Given the description of an element on the screen output the (x, y) to click on. 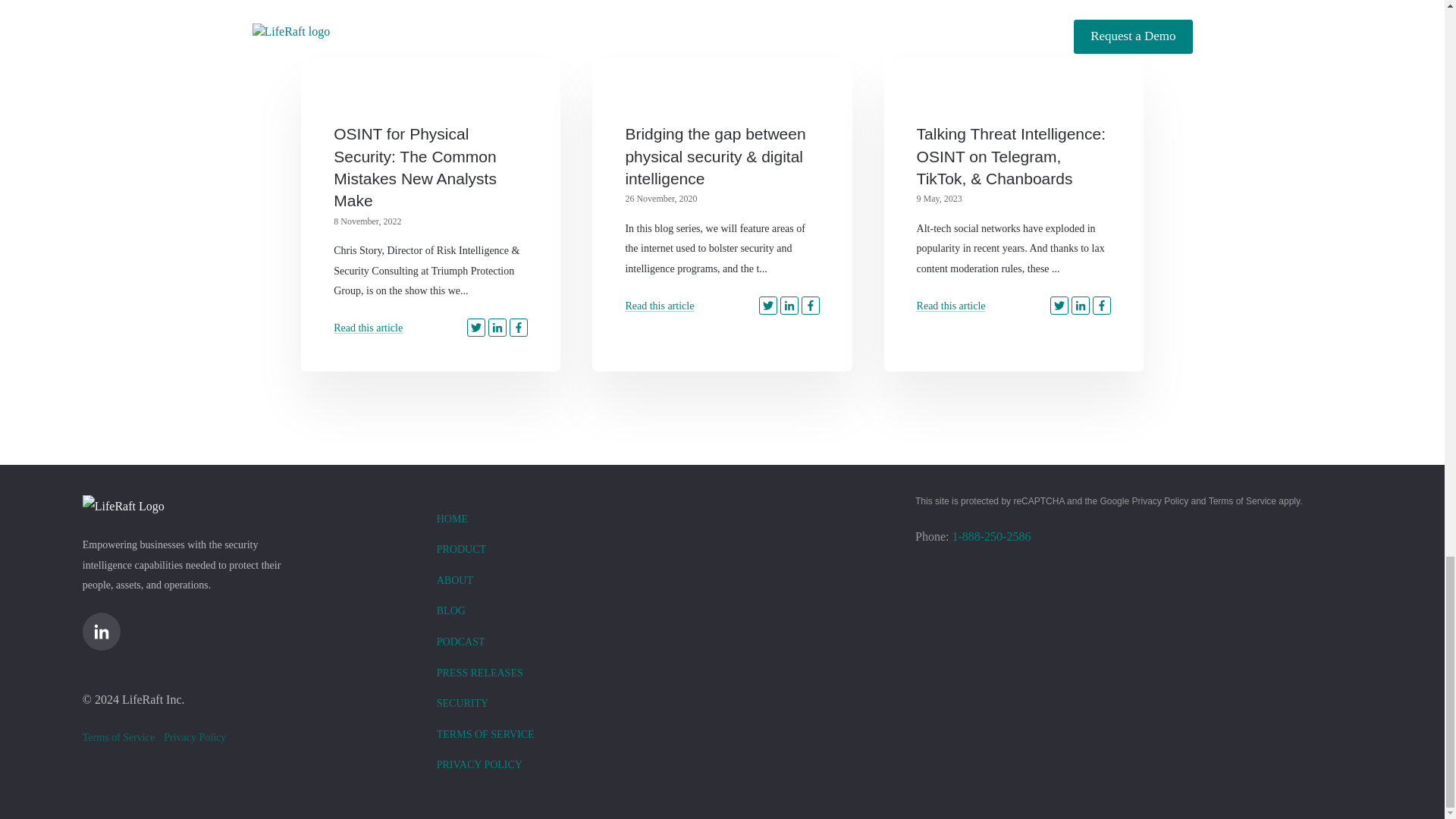
Share on LinkedIn (1080, 305)
Share on Facebook (518, 327)
Share on Twitter (767, 305)
Share on LinkedIn (788, 305)
Read this article (368, 327)
Share on Facebook (1101, 305)
Read this article (659, 306)
Read this article (659, 306)
